Given the description of an element on the screen output the (x, y) to click on. 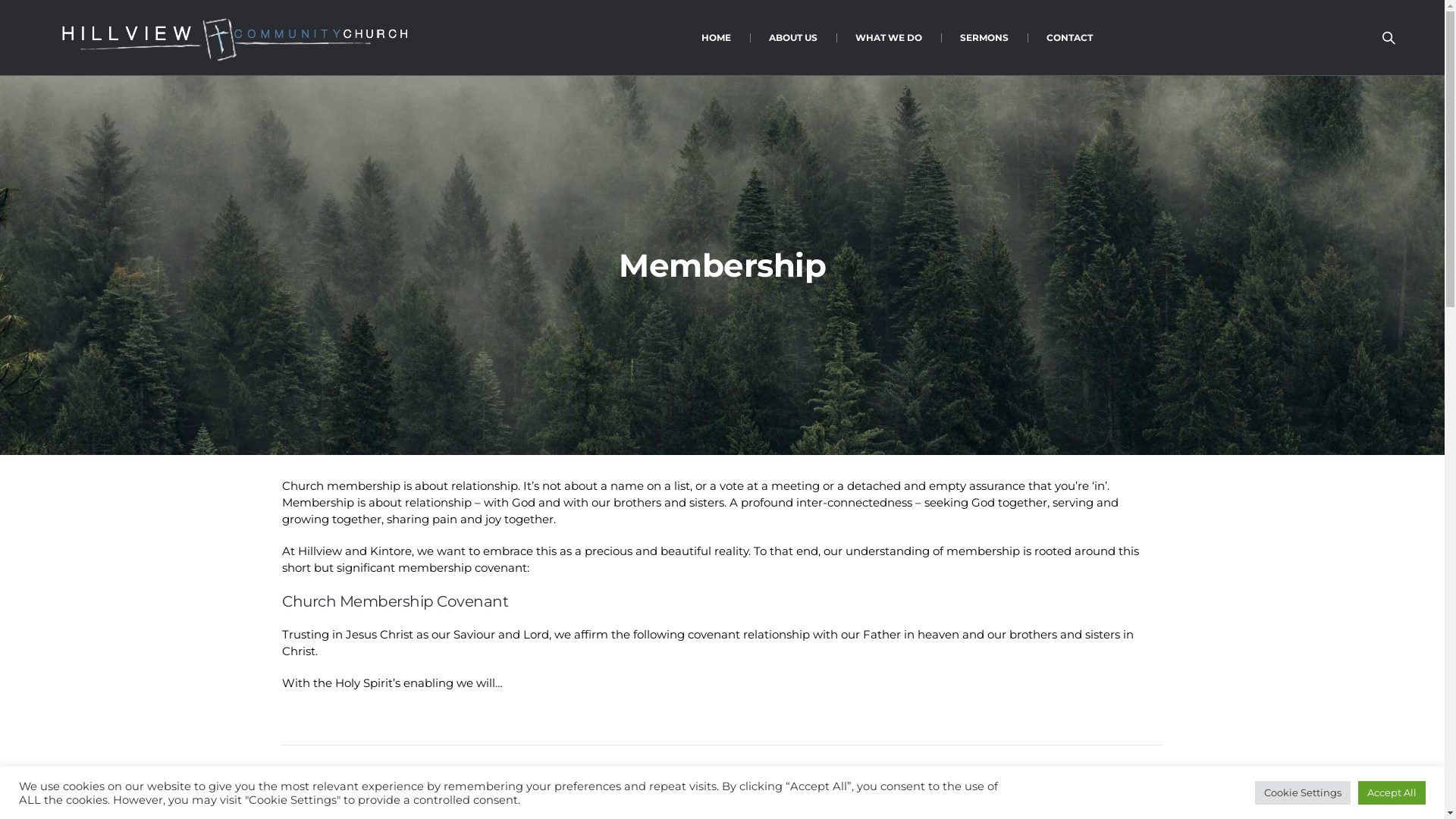
Cookie Settings Element type: text (1302, 792)
Accept All Element type: text (1391, 792)
ABOUT US Element type: text (792, 37)
CONTACT Element type: text (1068, 37)
SERMONS Element type: text (983, 37)
WHAT WE DO Element type: text (887, 37)
HOME Element type: text (715, 37)
